Given the description of an element on the screen output the (x, y) to click on. 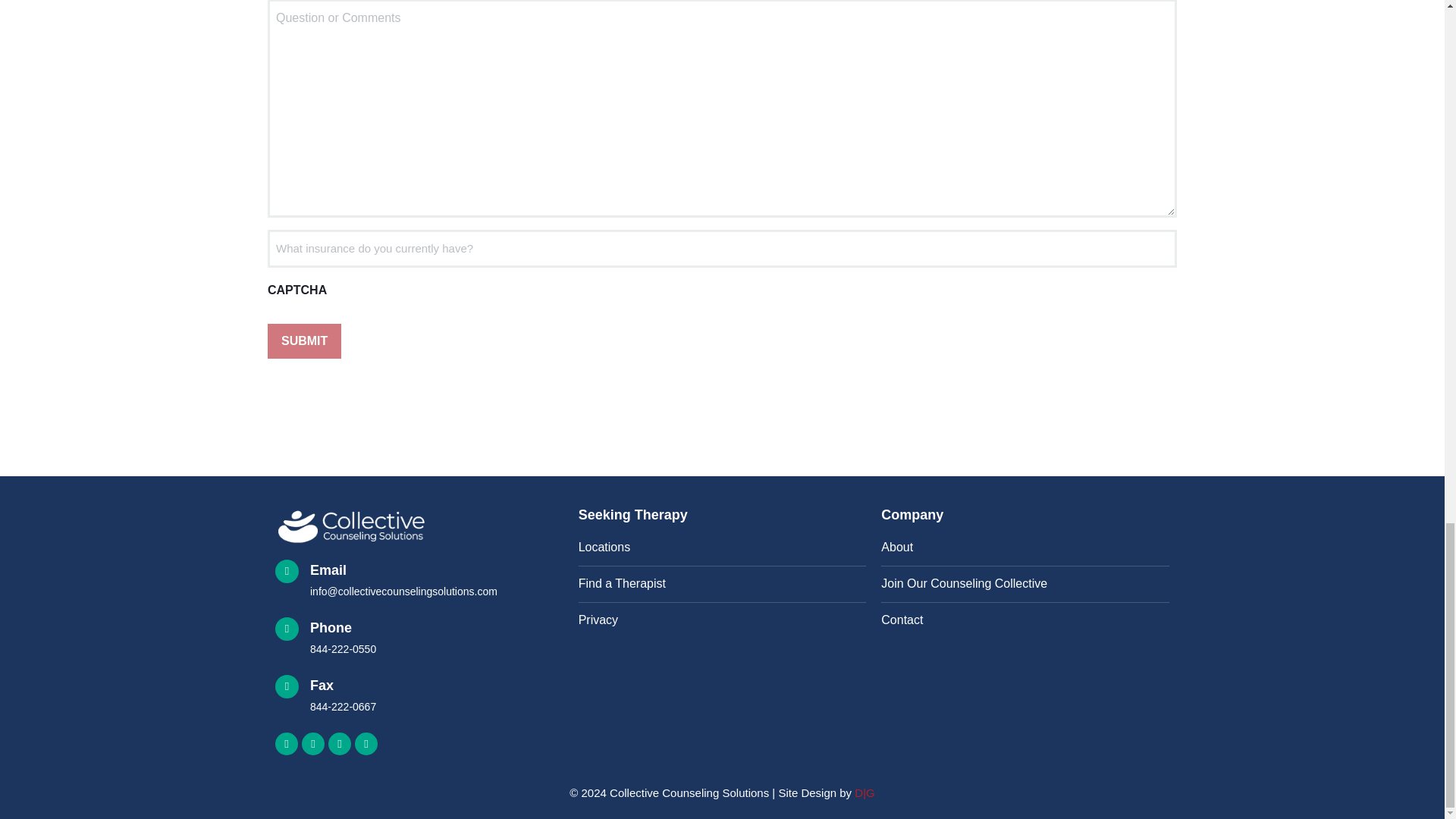
Locations (419, 695)
Submit (722, 547)
Find a Therapist (303, 340)
Submit (419, 638)
